Given the description of an element on the screen output the (x, y) to click on. 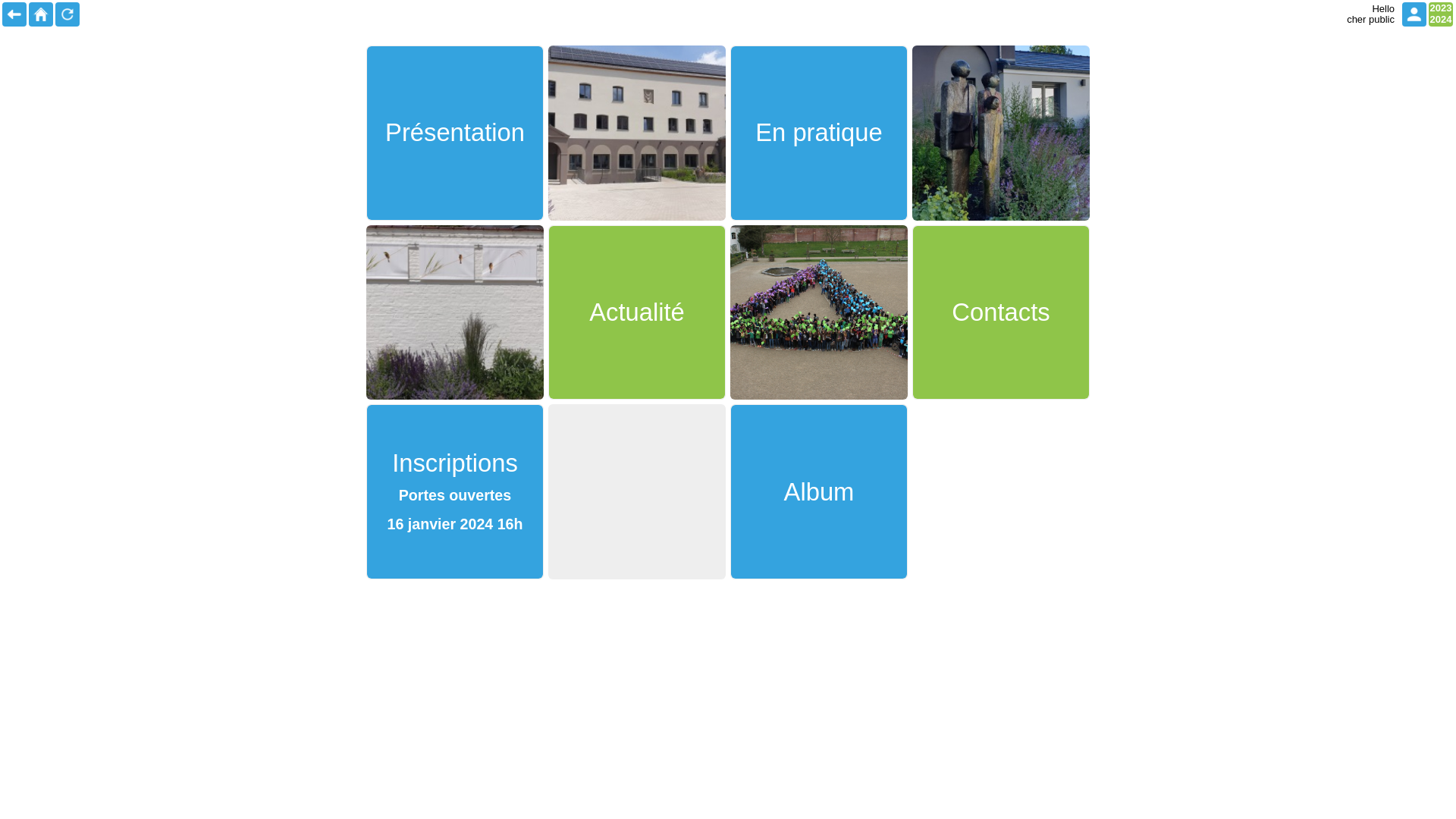
Revenir sur ses pas Element type: hover (14, 14)
